Given the description of an element on the screen output the (x, y) to click on. 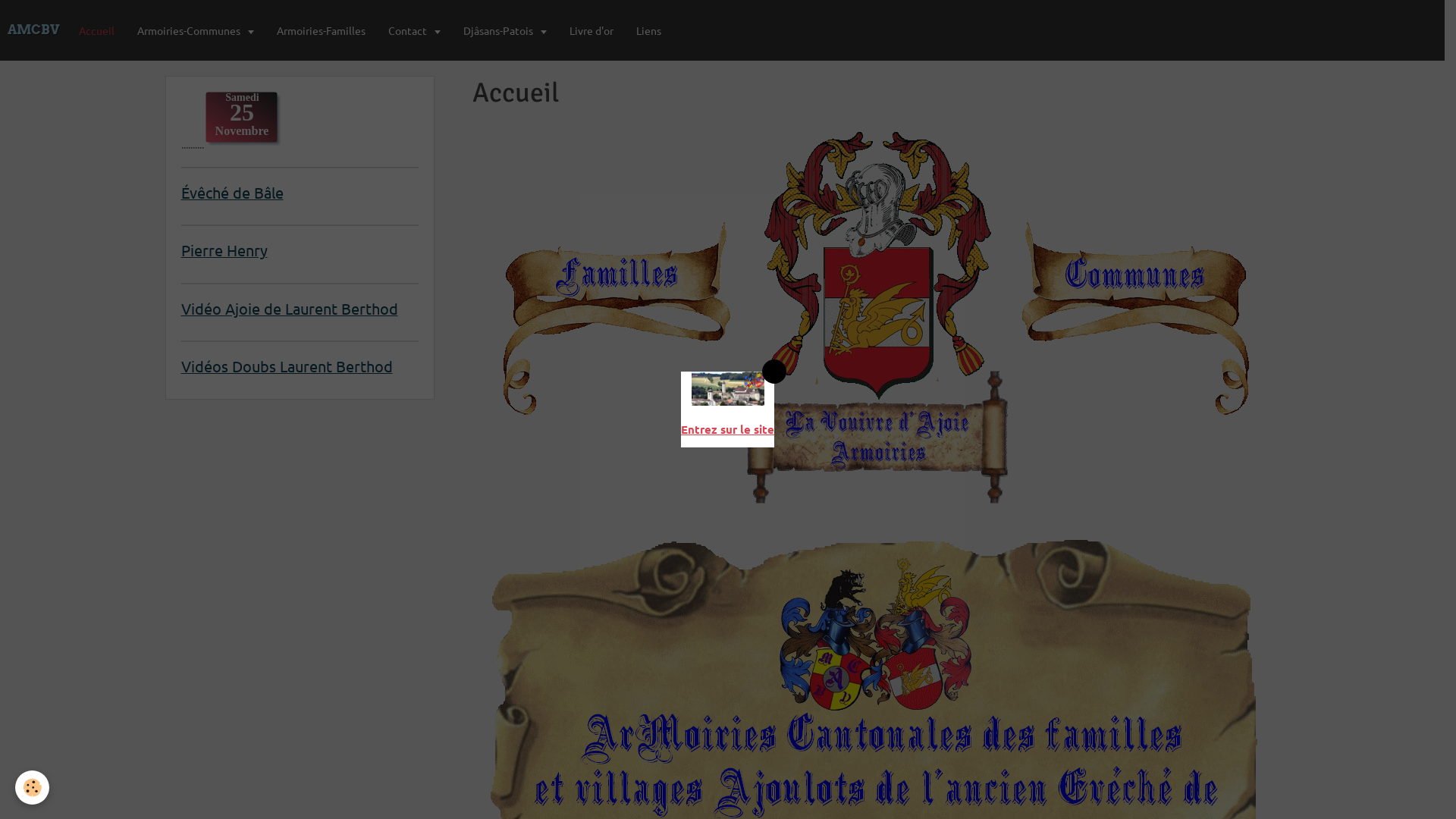
Contact Element type: text (413, 30)
Armoiries-Familles Element type: text (320, 30)
AMCBV Element type: text (33, 30)
Livre d'or Element type: text (591, 30)
Entrez sur le site Element type: text (727, 428)
Fermer Element type: hover (774, 371)
Accueil Element type: text (96, 30)
Armoiries-Communes Element type: text (195, 30)
Liens Element type: text (648, 30)
Pierre Henry Element type: text (223, 249)
